Given the description of an element on the screen output the (x, y) to click on. 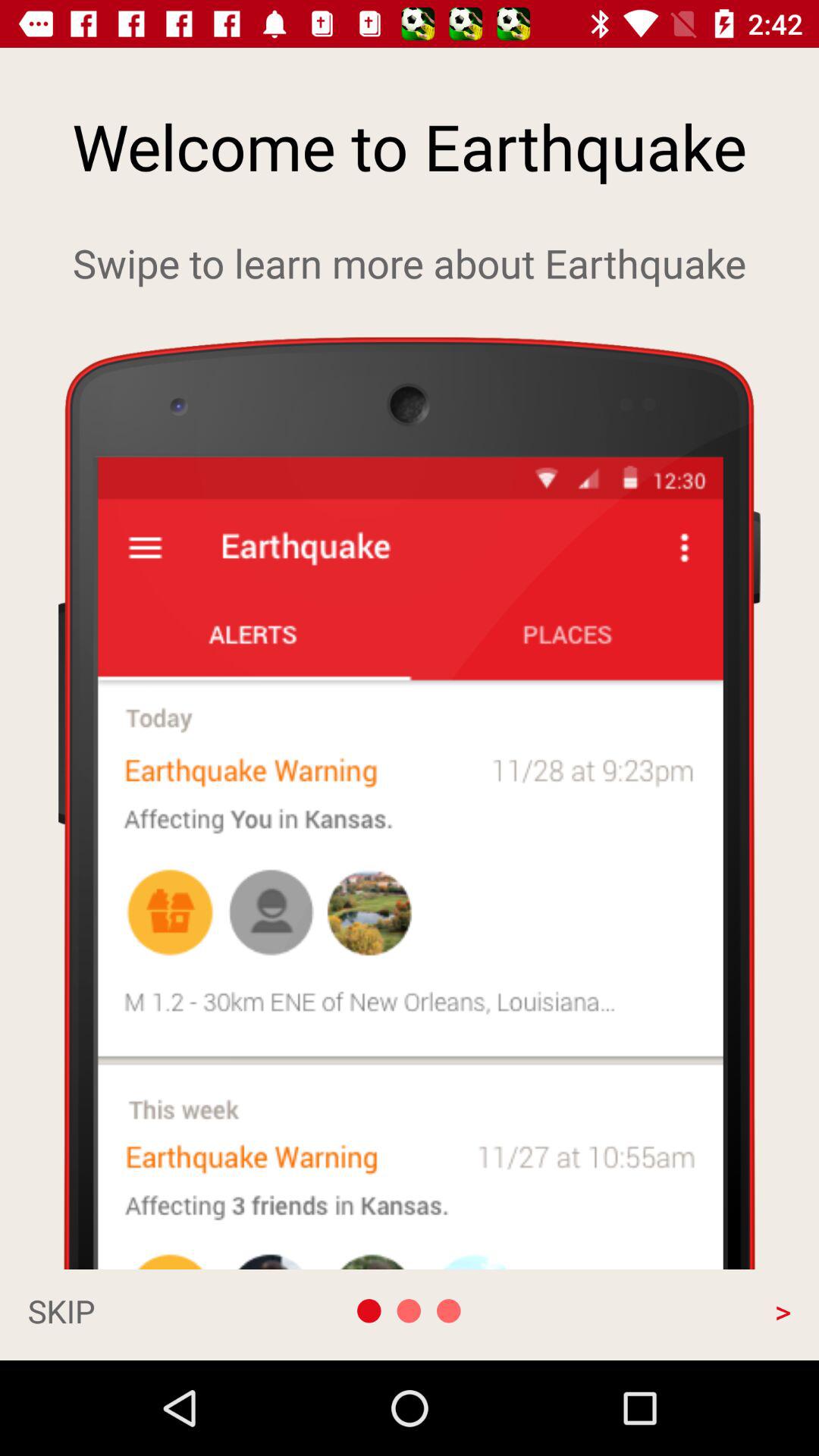
open the app at the bottom right corner (677, 1310)
